Given the description of an element on the screen output the (x, y) to click on. 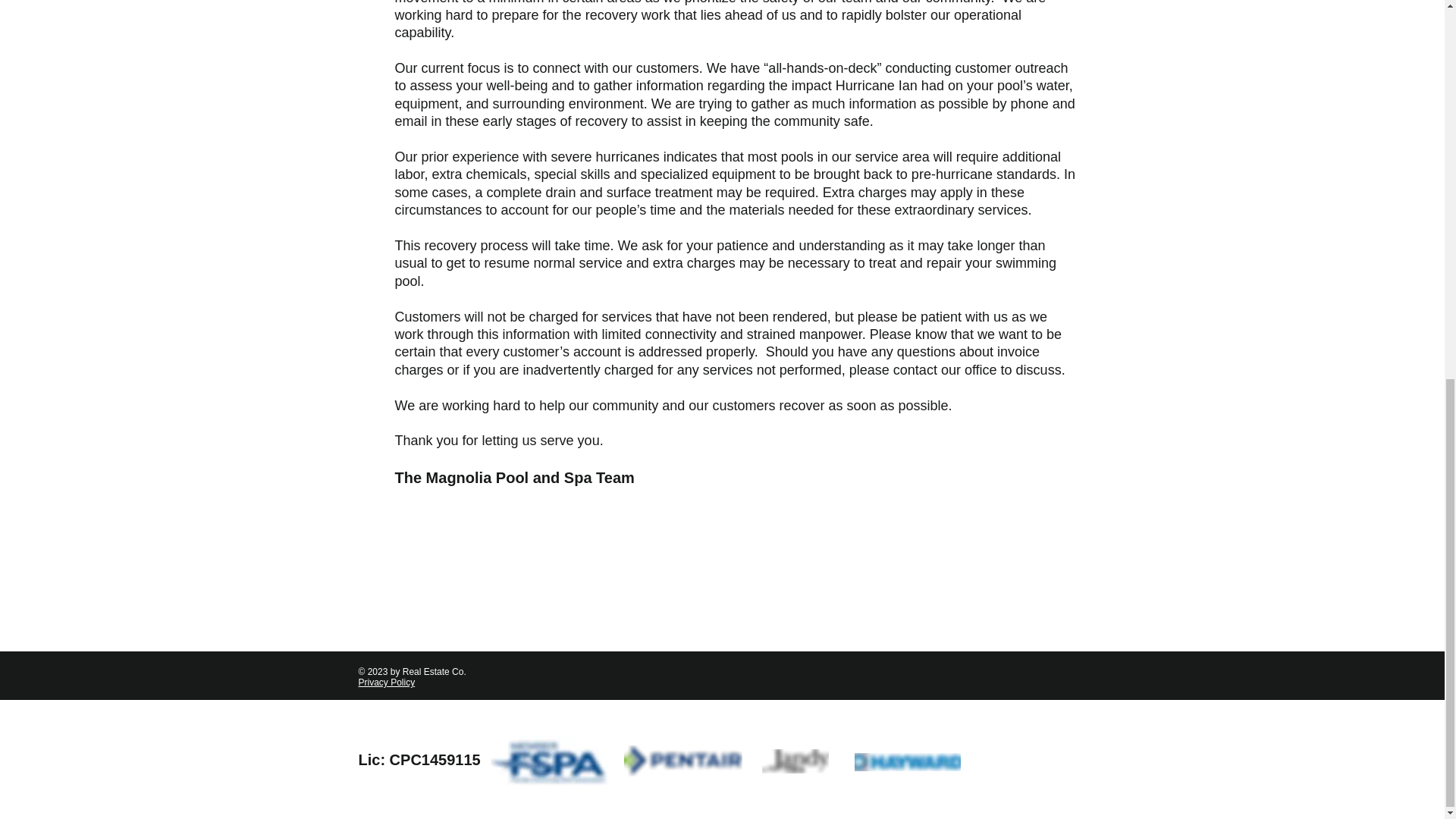
Privacy Policy (386, 682)
